Given the description of an element on the screen output the (x, y) to click on. 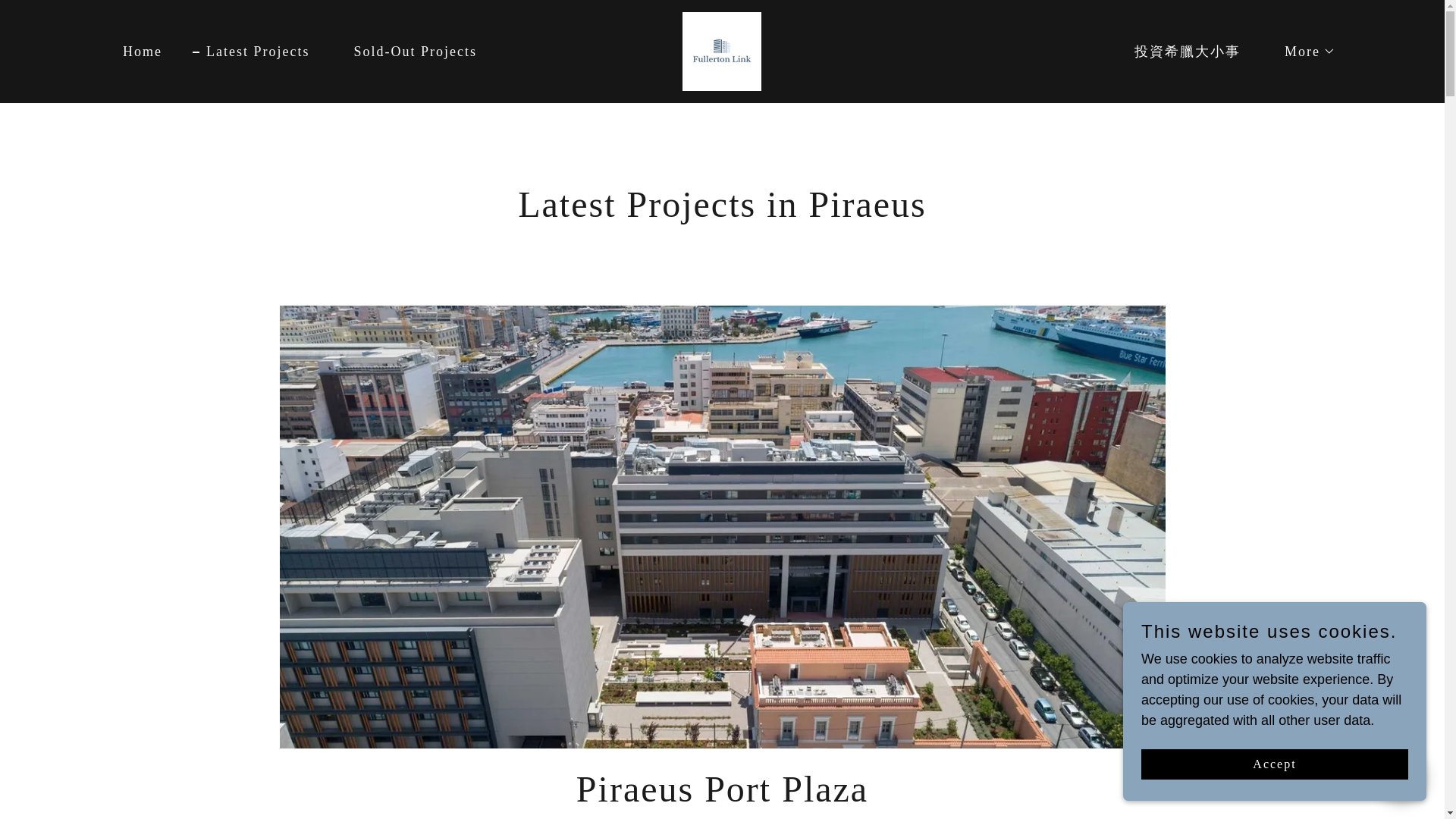
More (1303, 51)
Sold-Out Projects (721, 50)
Latest Projects (407, 51)
Home (250, 51)
